Given the description of an element on the screen output the (x, y) to click on. 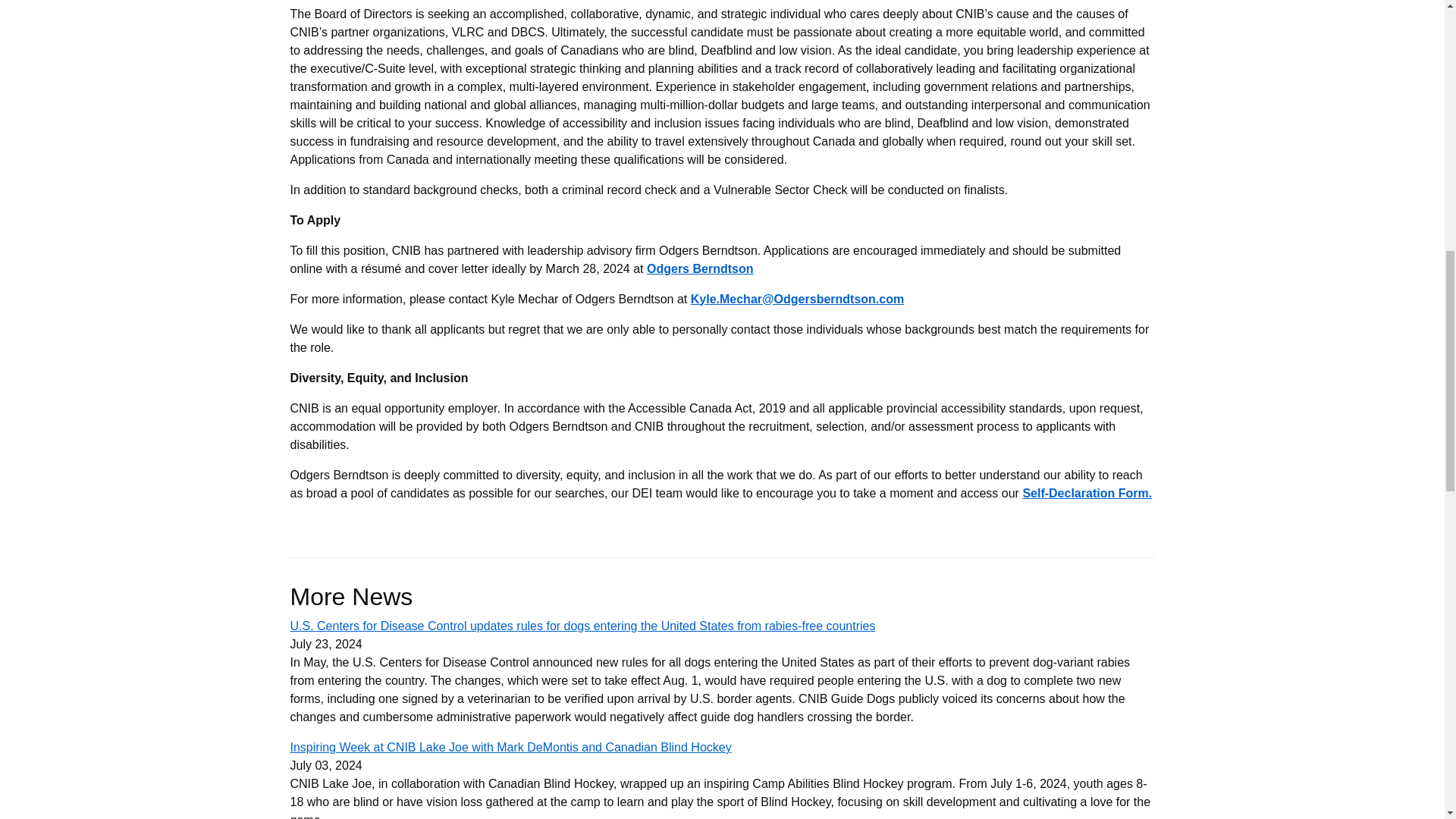
Odgers Berndtson (699, 268)
Self-Declaration Form. (1086, 492)
